Given the description of an element on the screen output the (x, y) to click on. 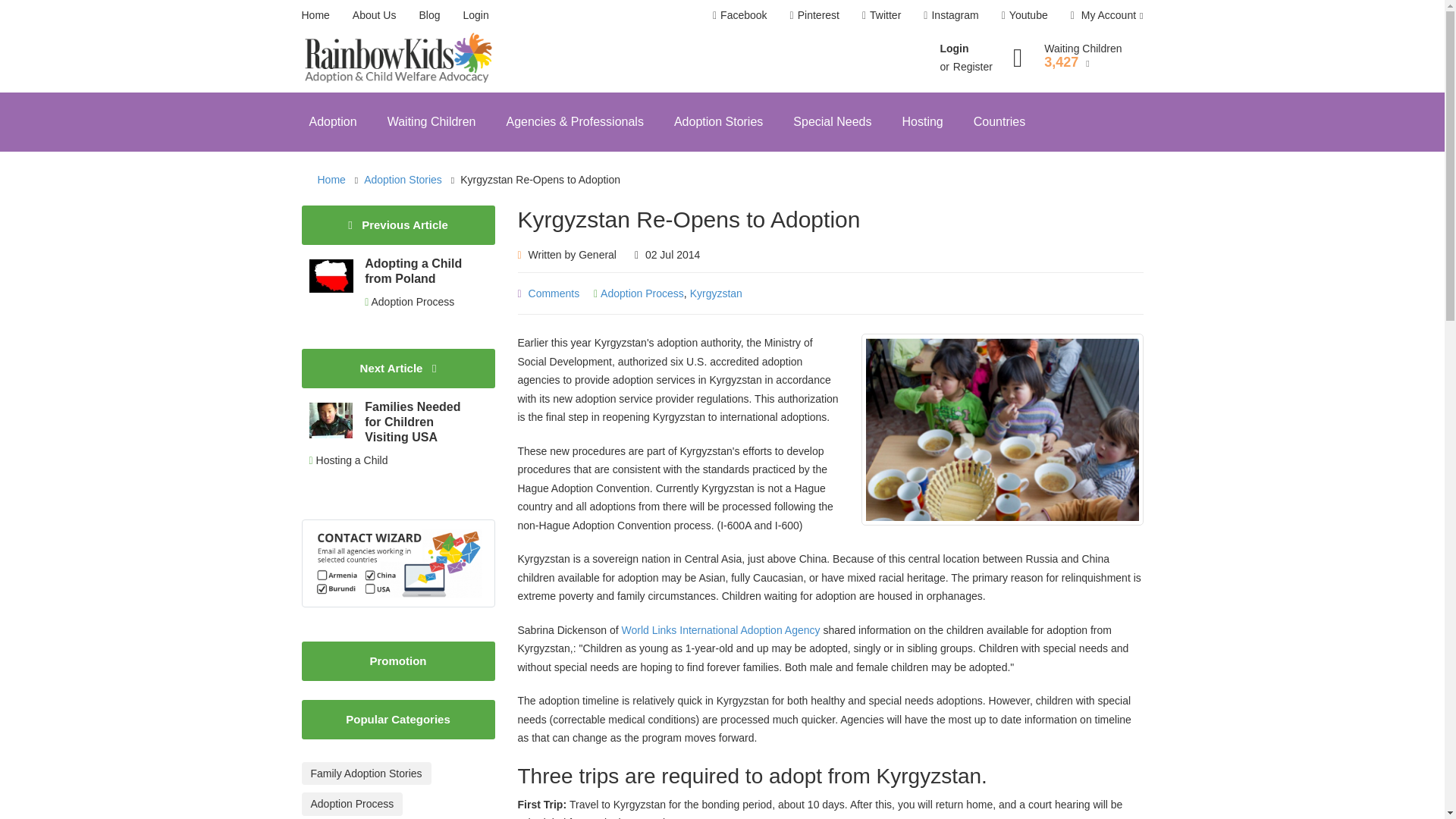
Pinterest (815, 15)
Special Needs (831, 121)
Instagram (950, 15)
Adoption Stories (718, 121)
Login (953, 48)
My Account (1102, 15)
Waiting Children (431, 121)
Twitter (881, 15)
Register (972, 66)
About Us (374, 15)
Login (475, 15)
Twitter (950, 15)
Facebook (740, 15)
Facebook (740, 15)
Youtube (1024, 15)
